Given the description of an element on the screen output the (x, y) to click on. 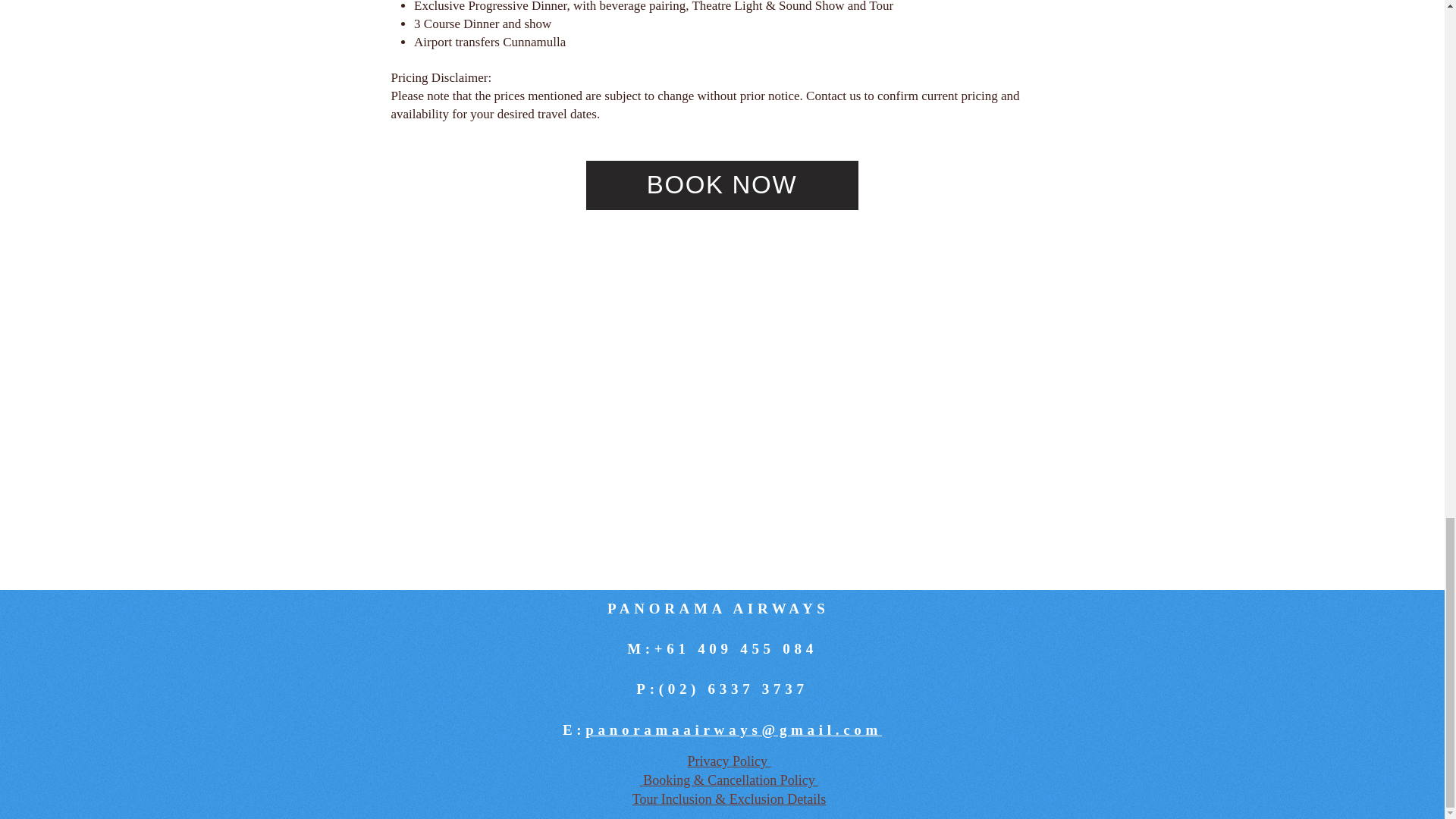
PANORAMA AIRWAYS  (722, 608)
Privacy Policy  (728, 761)
BOOK NOW (721, 184)
